Given the description of an element on the screen output the (x, y) to click on. 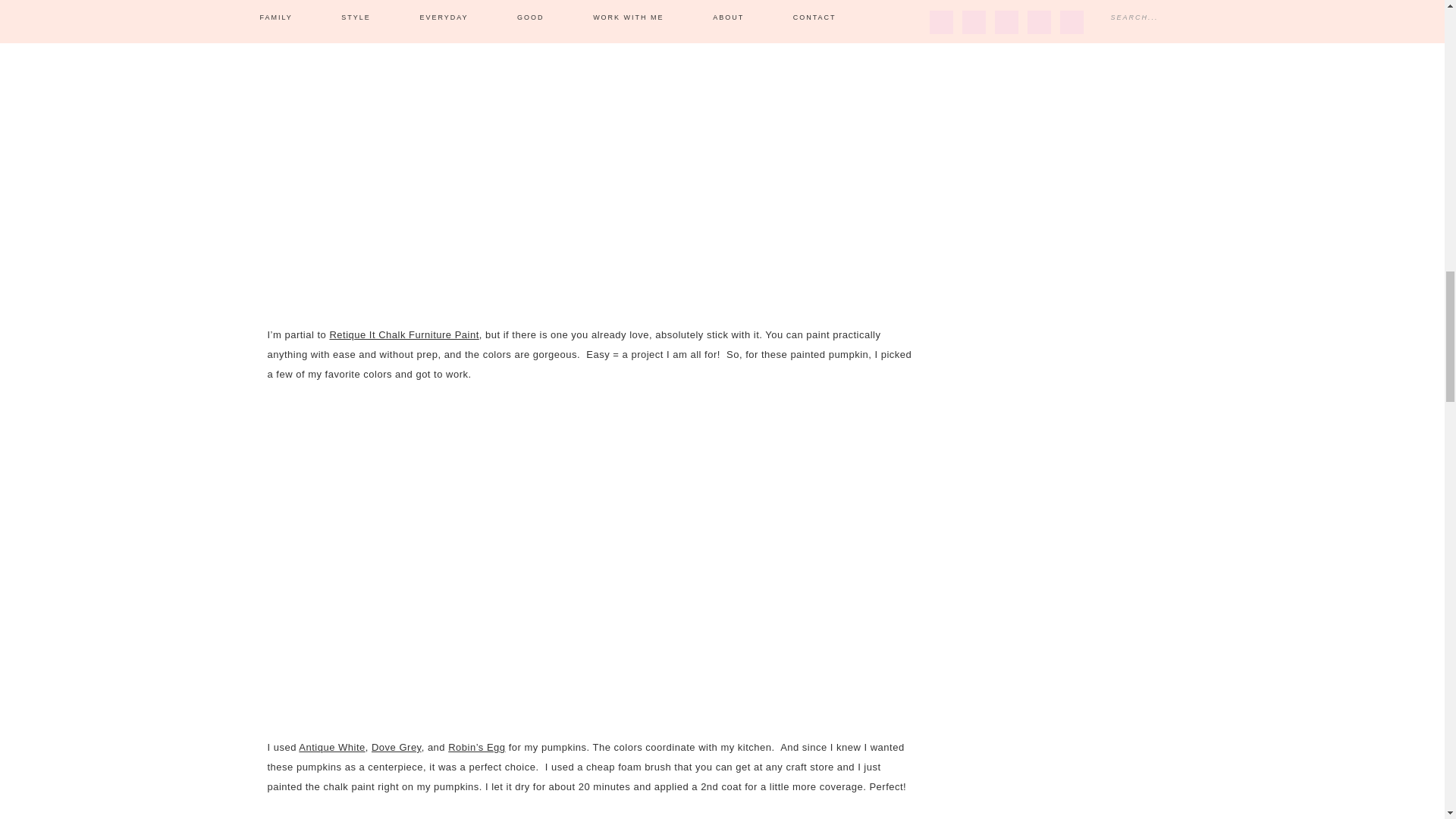
Antique White (331, 747)
Dove Grey (396, 747)
Retique It Chalk Furniture Paint (404, 334)
